Given the description of an element on the screen output the (x, y) to click on. 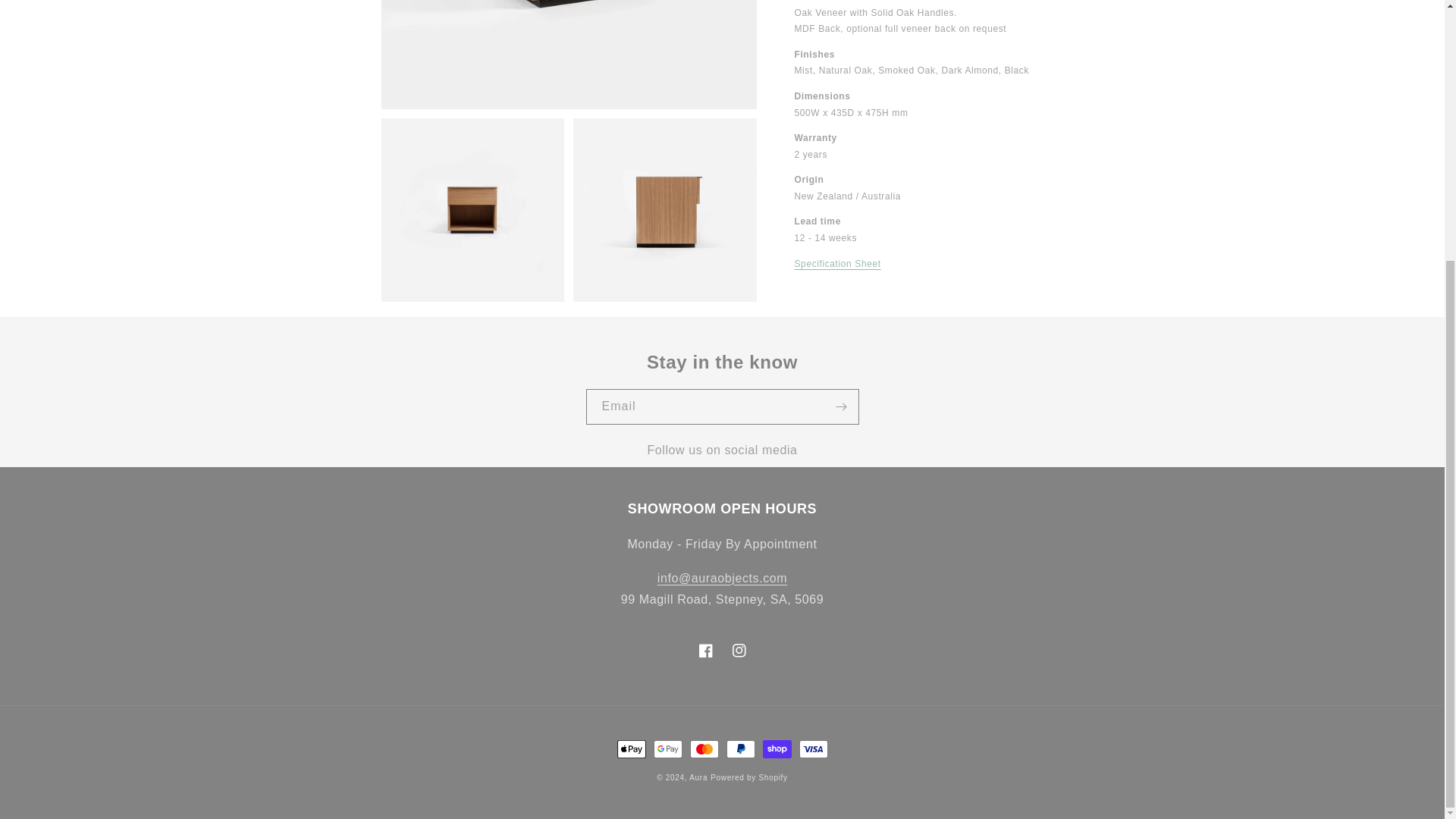
Sage Bedsides (837, 263)
